Given the description of an element on the screen output the (x, y) to click on. 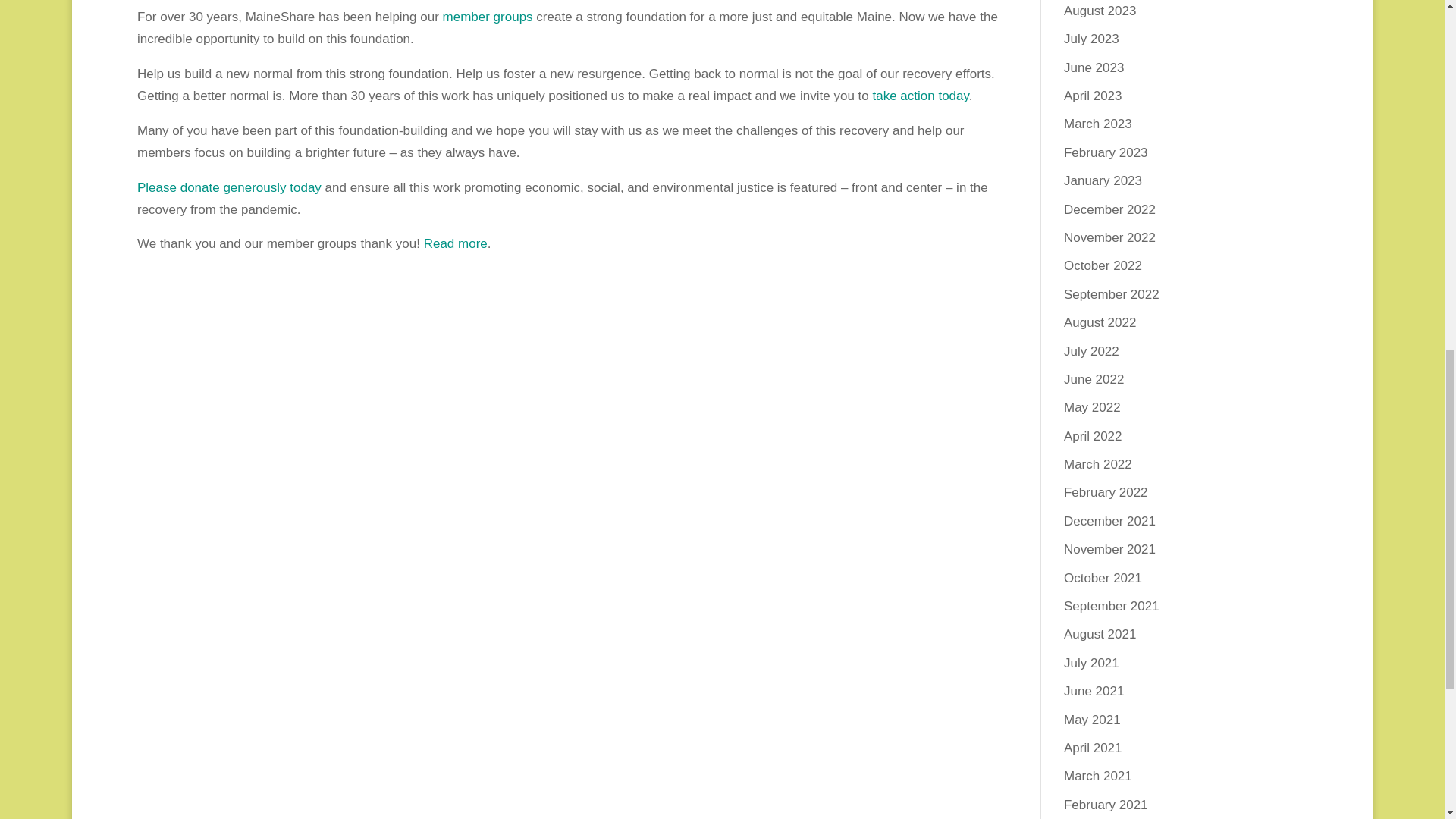
July 2023 (1091, 38)
August 2022 (1099, 322)
Read more (455, 243)
June 2023 (1094, 67)
March 2023 (1098, 124)
February 2023 (1106, 152)
Please donate generously today (228, 187)
September 2022 (1111, 294)
take action today (920, 95)
November 2022 (1110, 237)
